Given the description of an element on the screen output the (x, y) to click on. 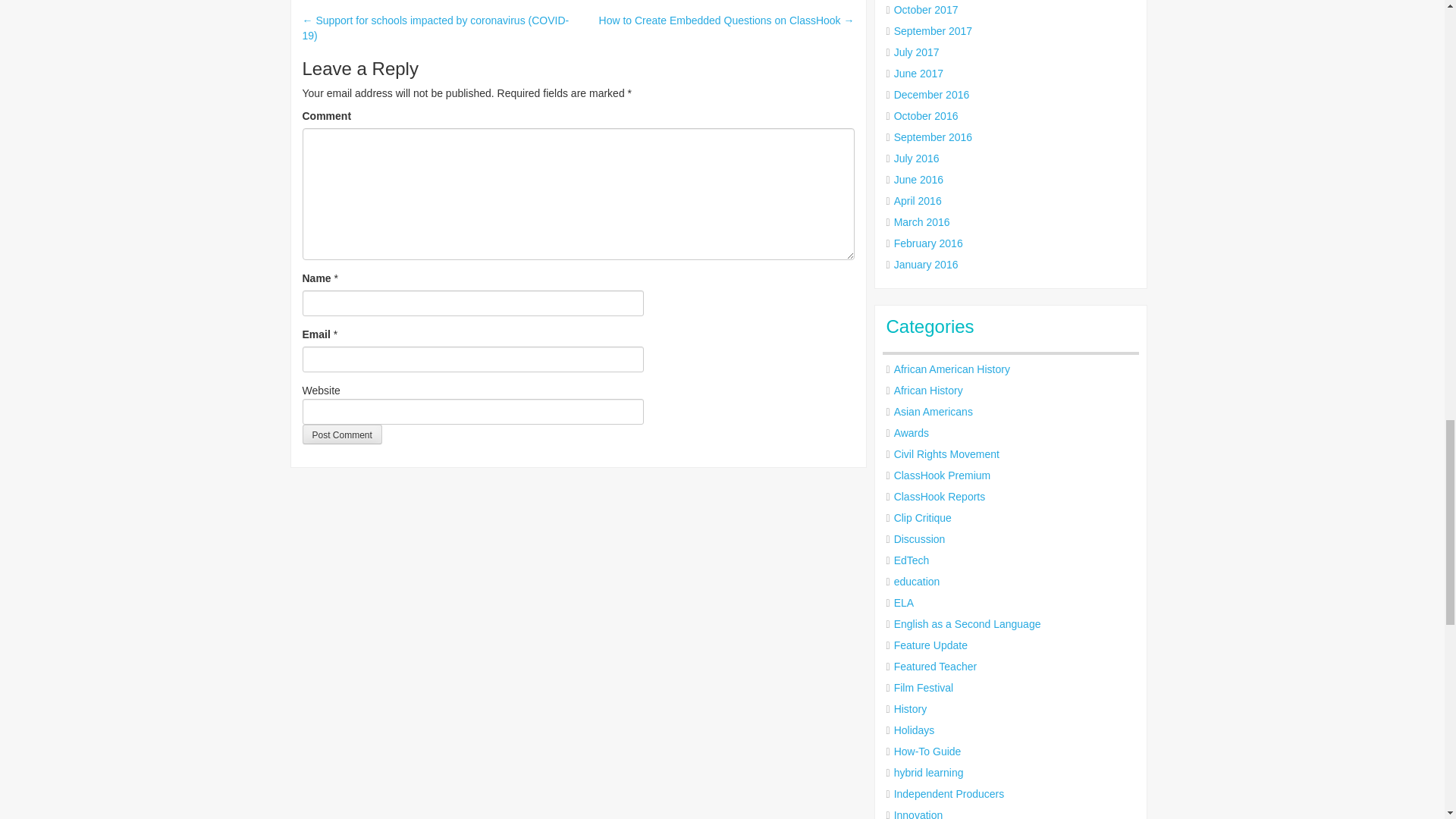
Post Comment (341, 434)
Post Comment (341, 434)
